Given the description of an element on the screen output the (x, y) to click on. 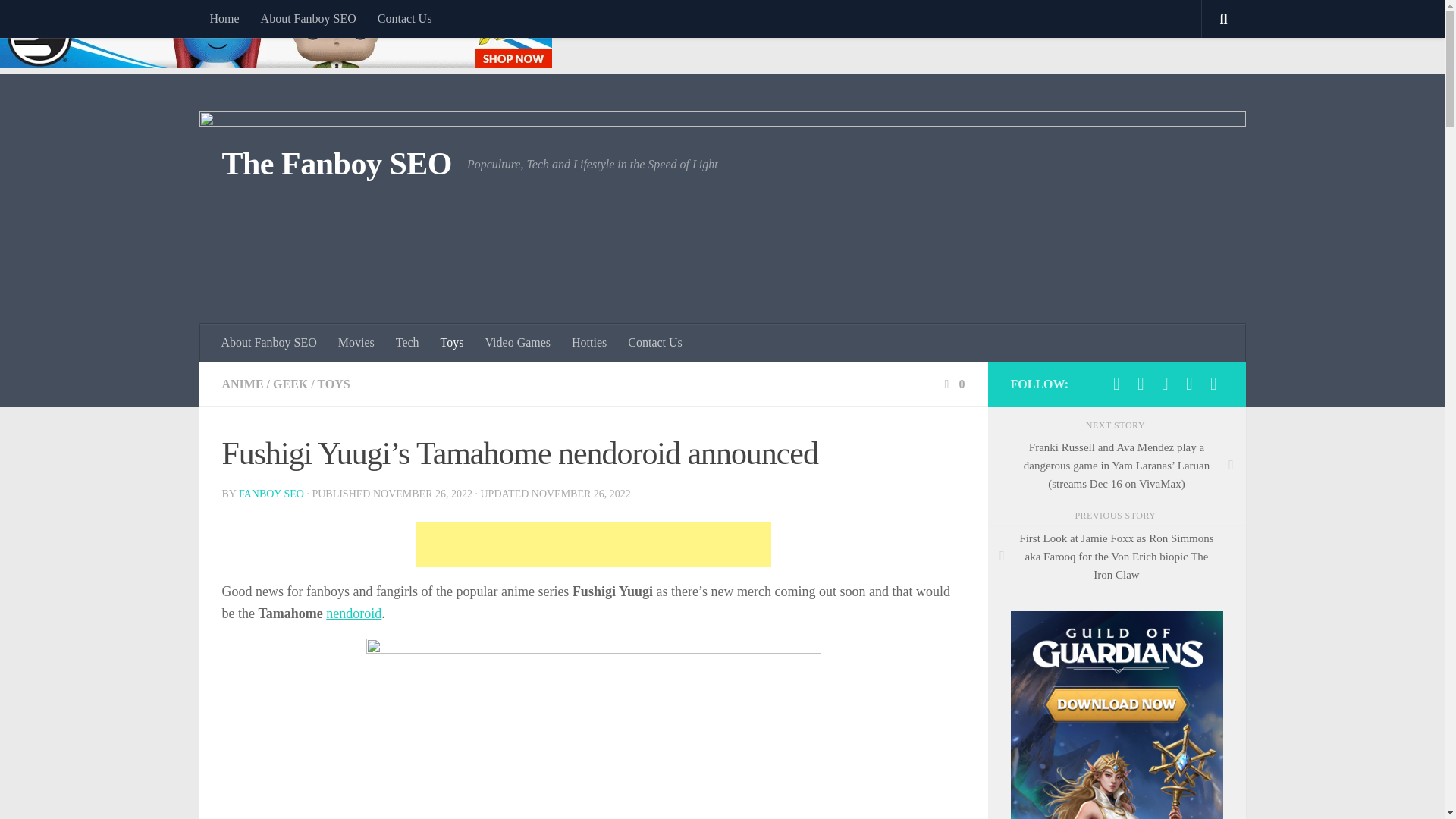
FANBOY SEO (271, 493)
About Fanboy SEO (308, 18)
nendoroid (353, 613)
Follow us on Instagram (1213, 383)
About Fanboy SEO (269, 342)
Movies (356, 342)
Follow us on Twitter (1140, 383)
Posts by Fanboy SEO (271, 493)
Hotties (588, 342)
0 (951, 383)
The Fanboy SEO (336, 164)
Video Games (517, 342)
GEEK (290, 383)
TOYS (333, 383)
Contact Us (655, 342)
